Given the description of an element on the screen output the (x, y) to click on. 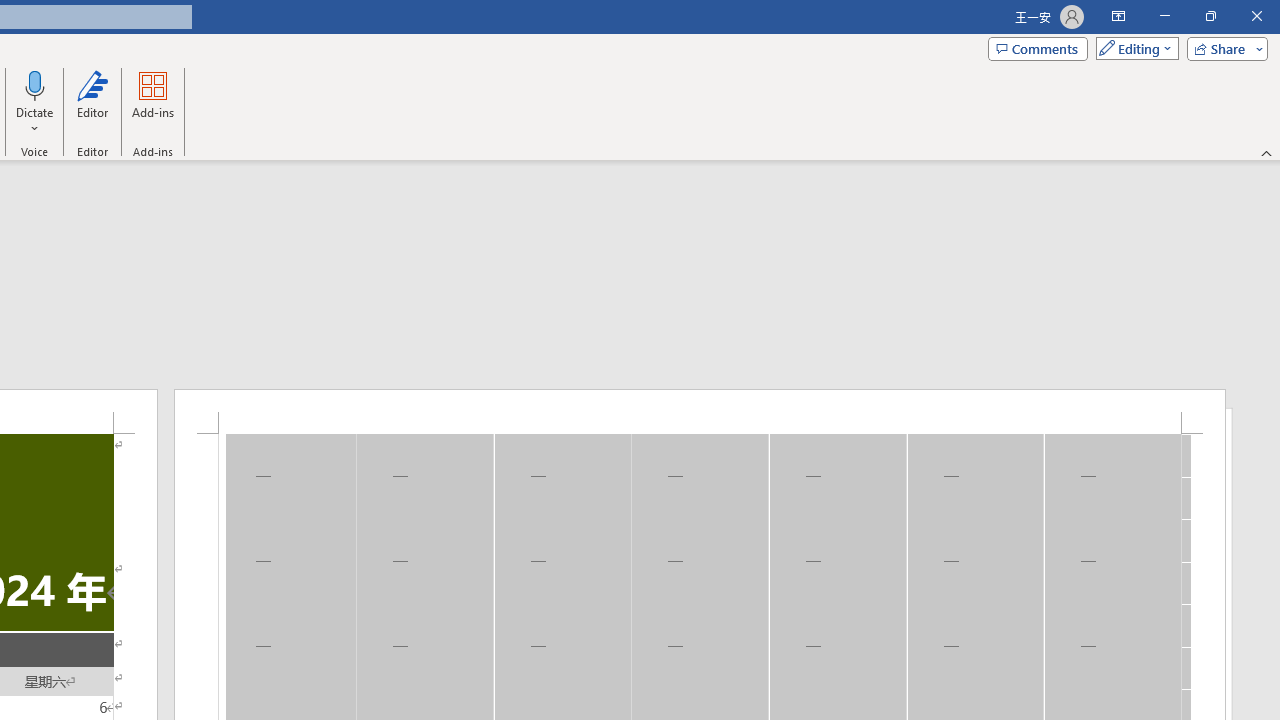
Dictate (35, 84)
